Given the description of an element on the screen output the (x, y) to click on. 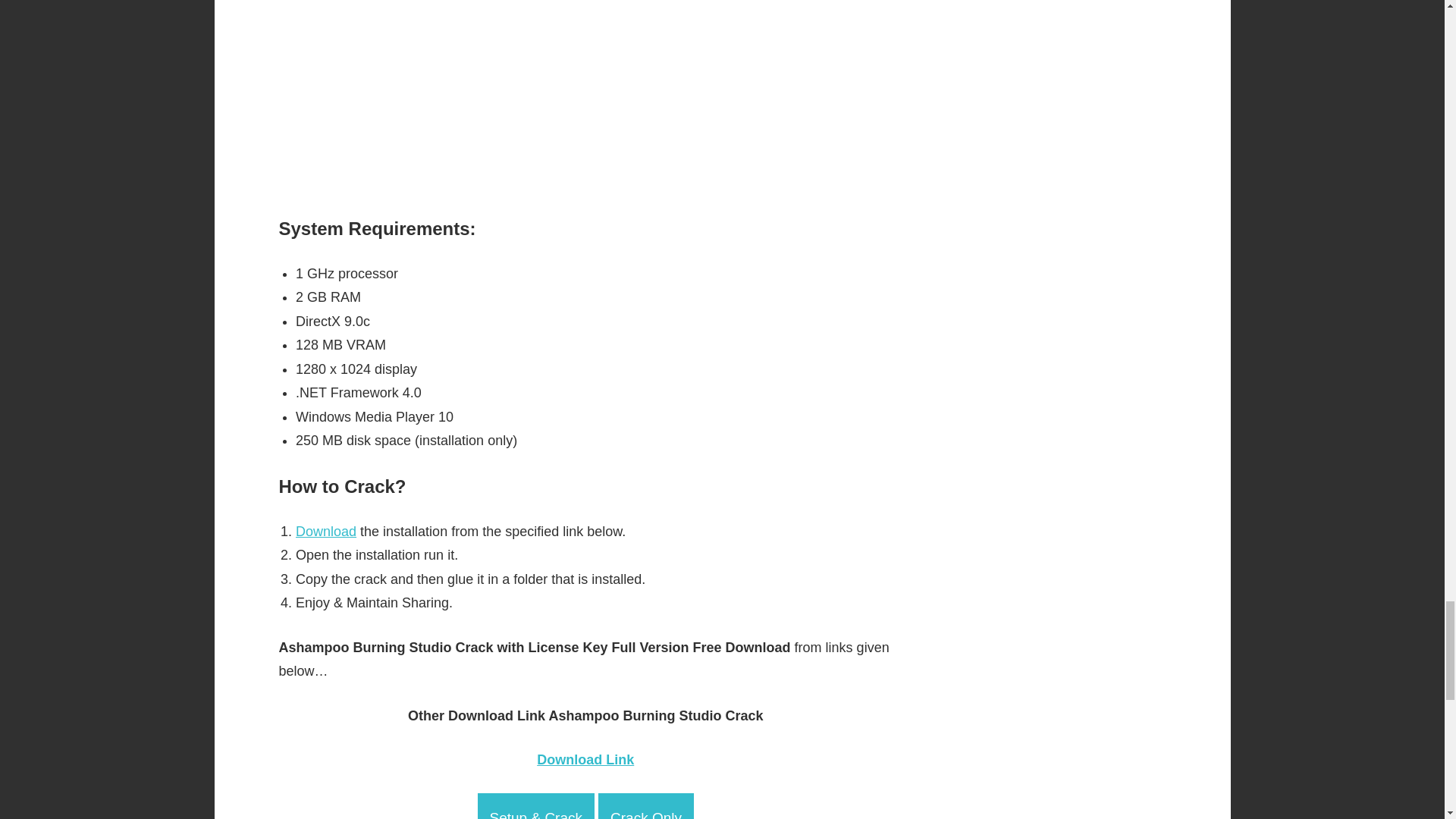
Download (325, 530)
Download Link (585, 759)
Crack Only (646, 806)
